Given the description of an element on the screen output the (x, y) to click on. 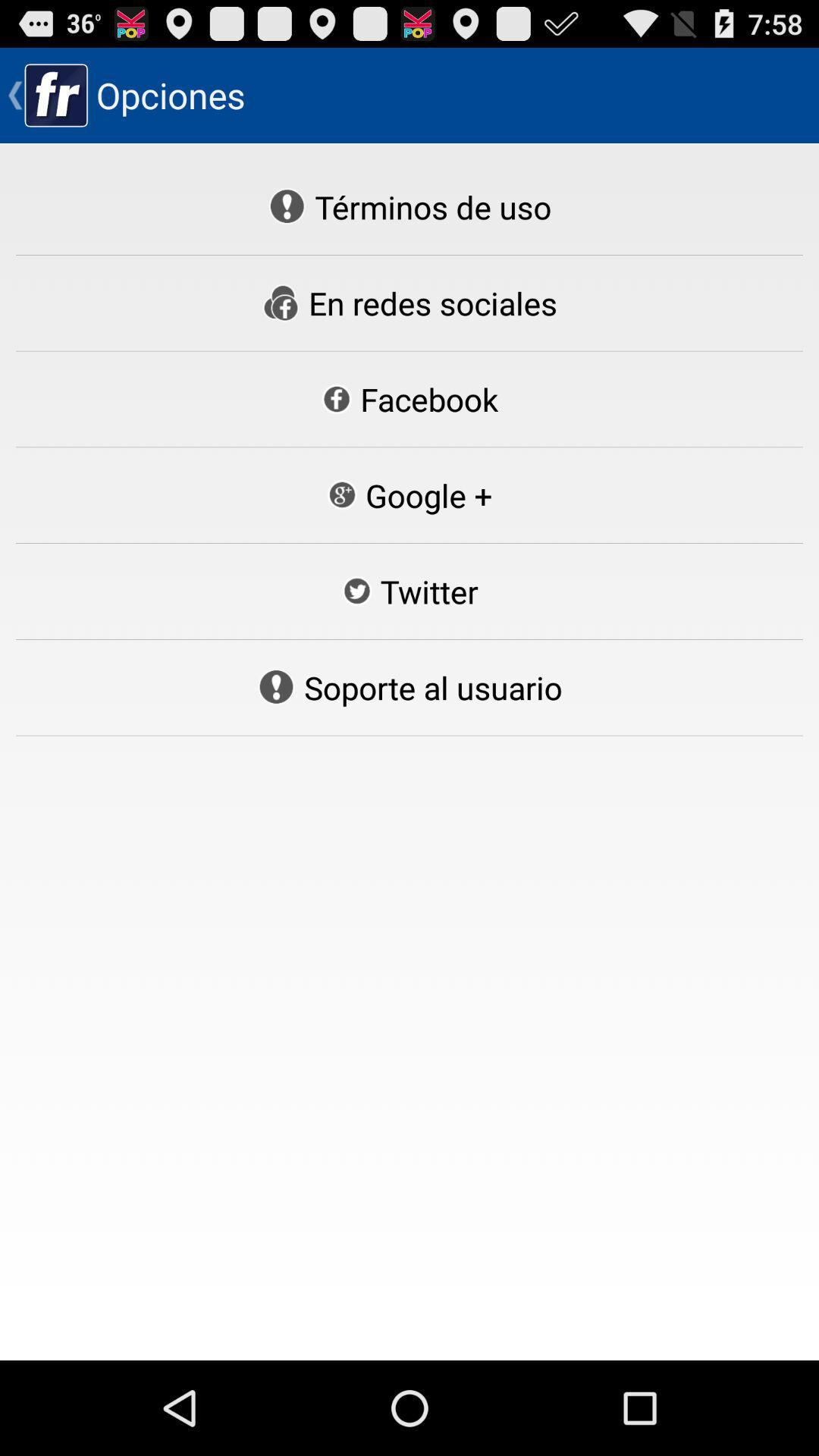
swipe until twitter button (409, 591)
